Given the description of an element on the screen output the (x, y) to click on. 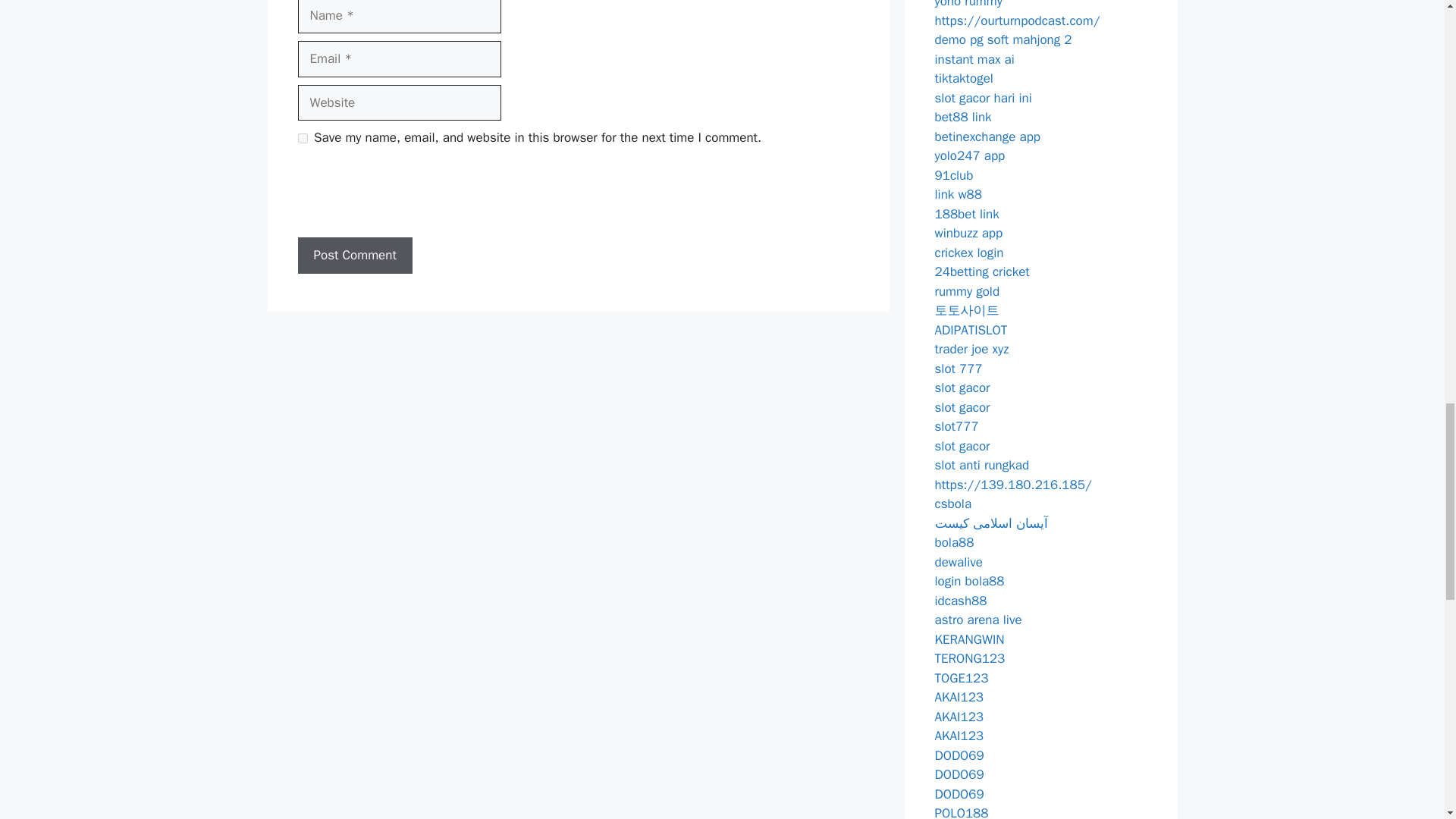
yes (302, 138)
Post Comment (354, 255)
Post Comment (354, 255)
reCAPTCHA (412, 202)
